Given the description of an element on the screen output the (x, y) to click on. 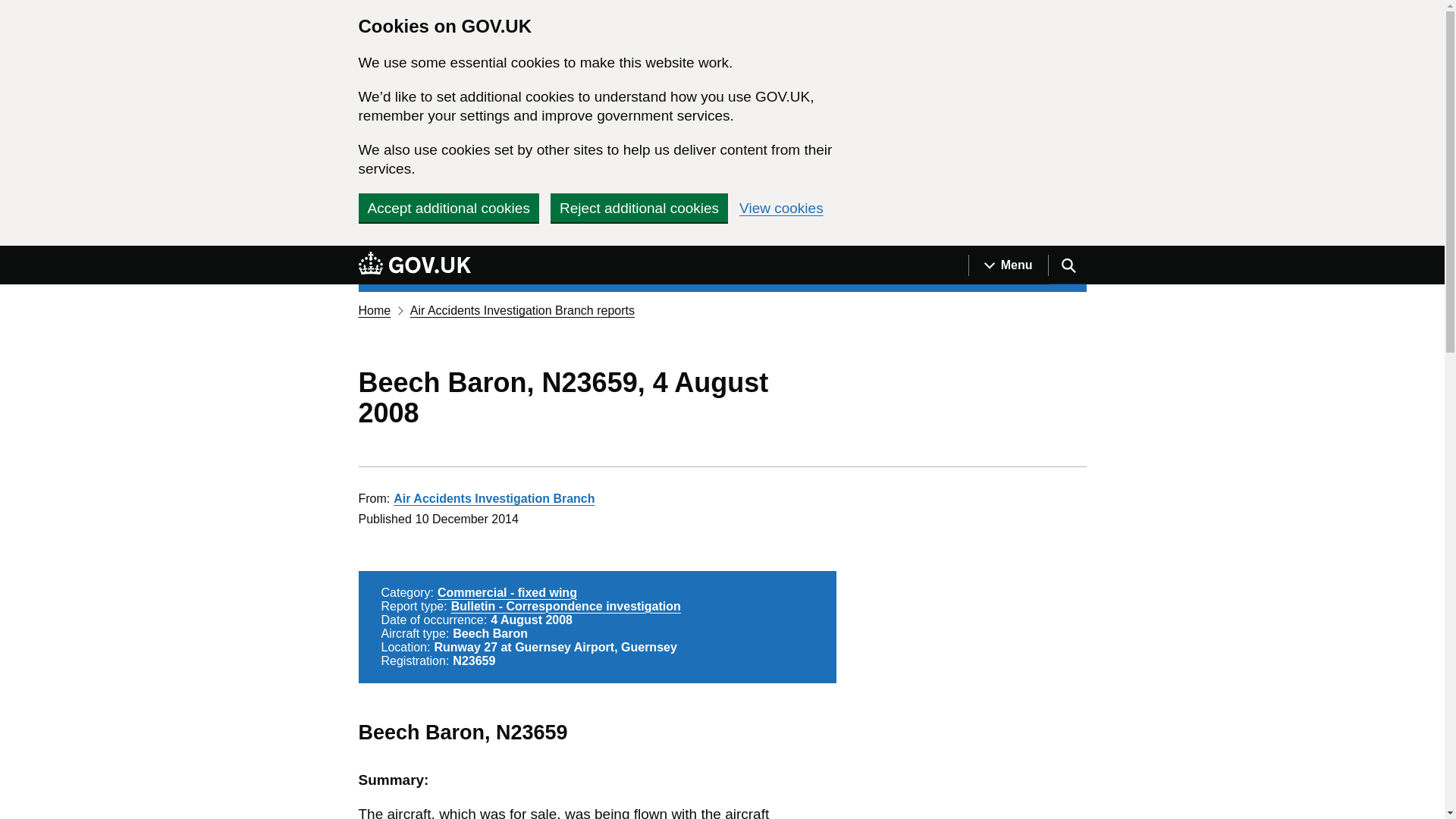
View cookies (781, 207)
Menu (1008, 265)
Reject additional cookies (639, 207)
Air Accidents Investigation Branch (493, 498)
Search GOV.UK (1067, 265)
Home (374, 309)
Air Accidents Investigation Branch reports (522, 309)
GOV.UK (414, 264)
Accept additional cookies (448, 207)
Commercial - fixed wing (507, 592)
